Given the description of an element on the screen output the (x, y) to click on. 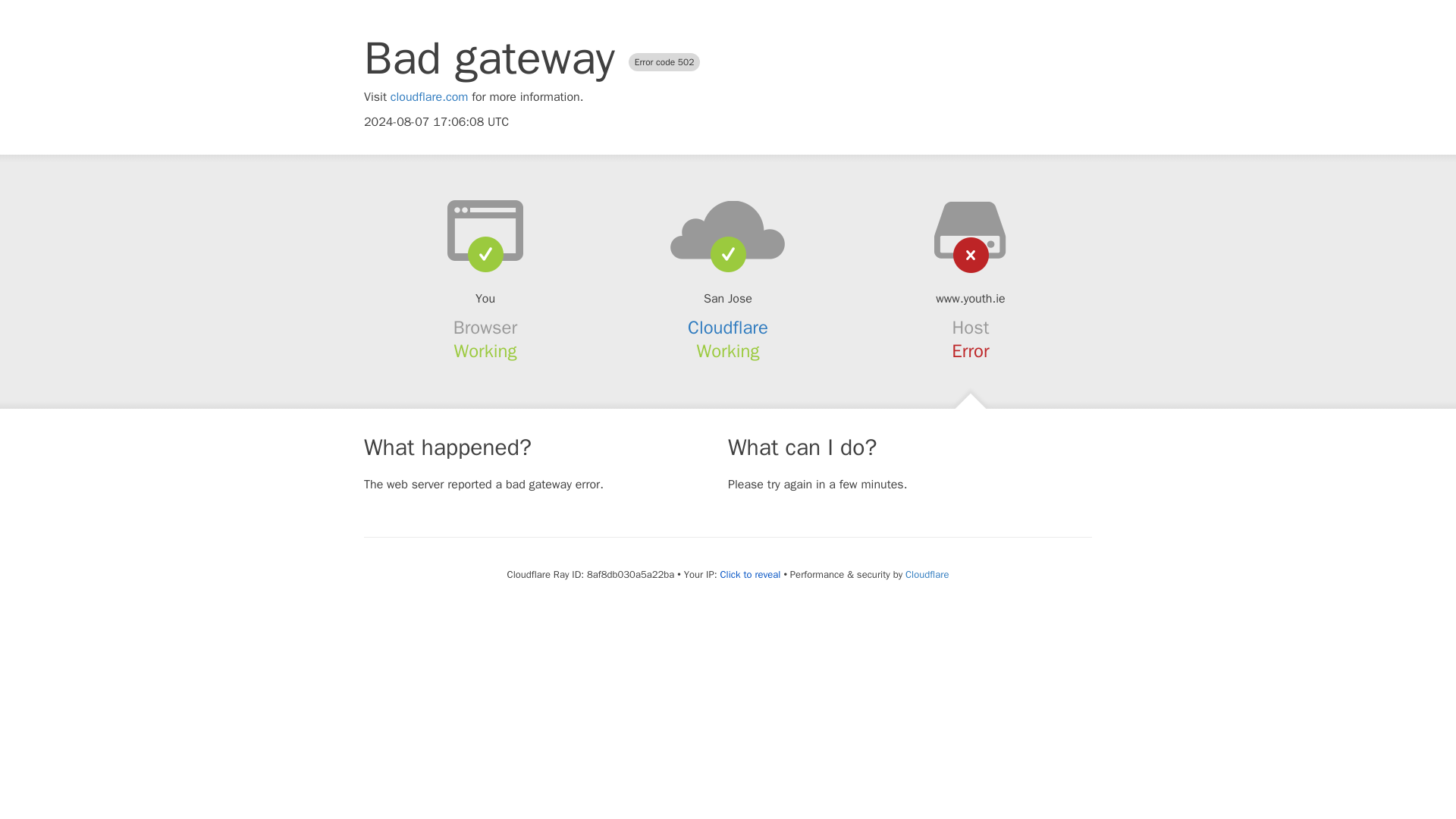
Cloudflare (927, 574)
cloudflare.com (429, 96)
Click to reveal (750, 574)
Cloudflare (727, 327)
